Given the description of an element on the screen output the (x, y) to click on. 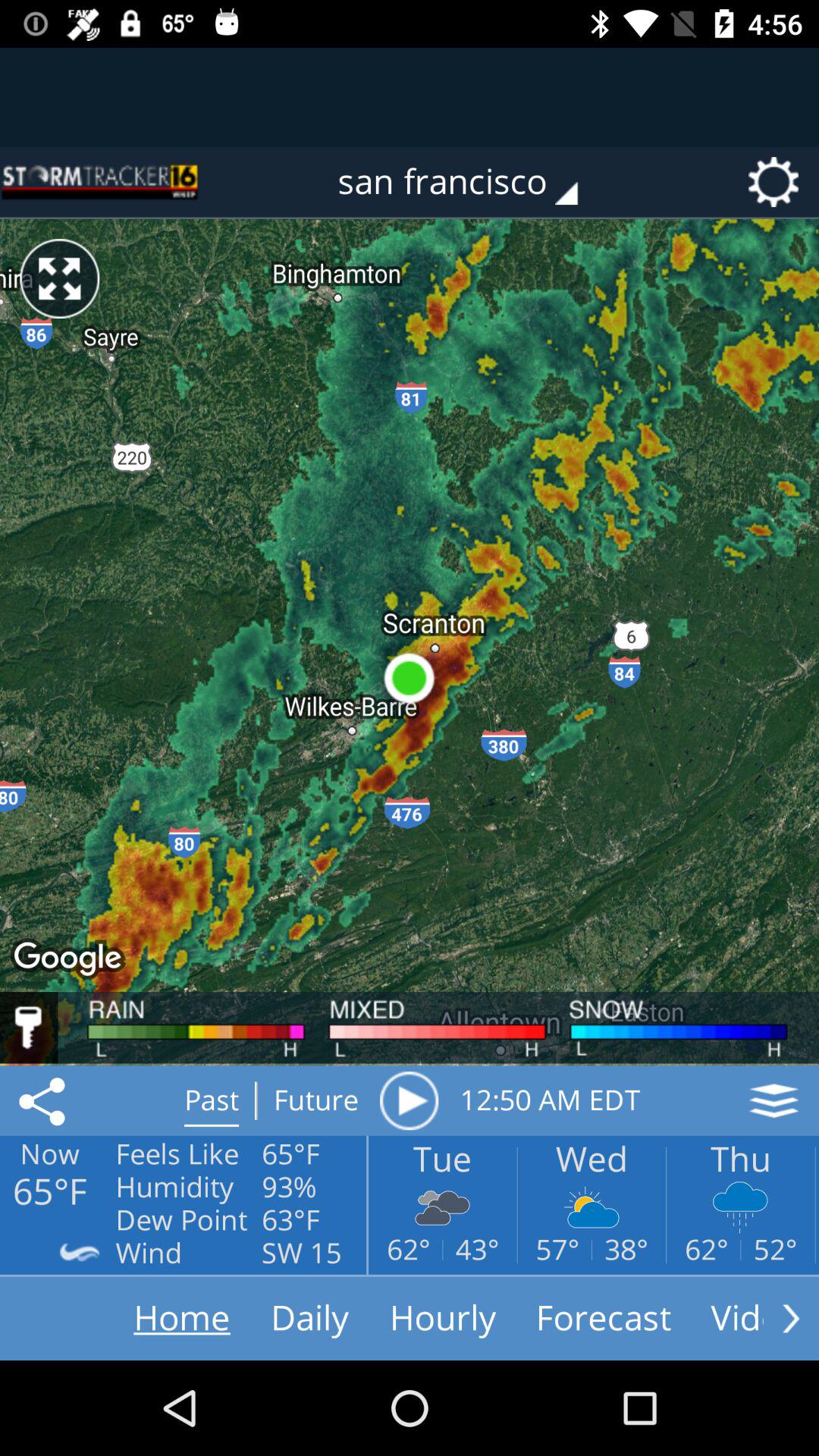
click icon to the left of feels like (44, 1100)
